Given the description of an element on the screen output the (x, y) to click on. 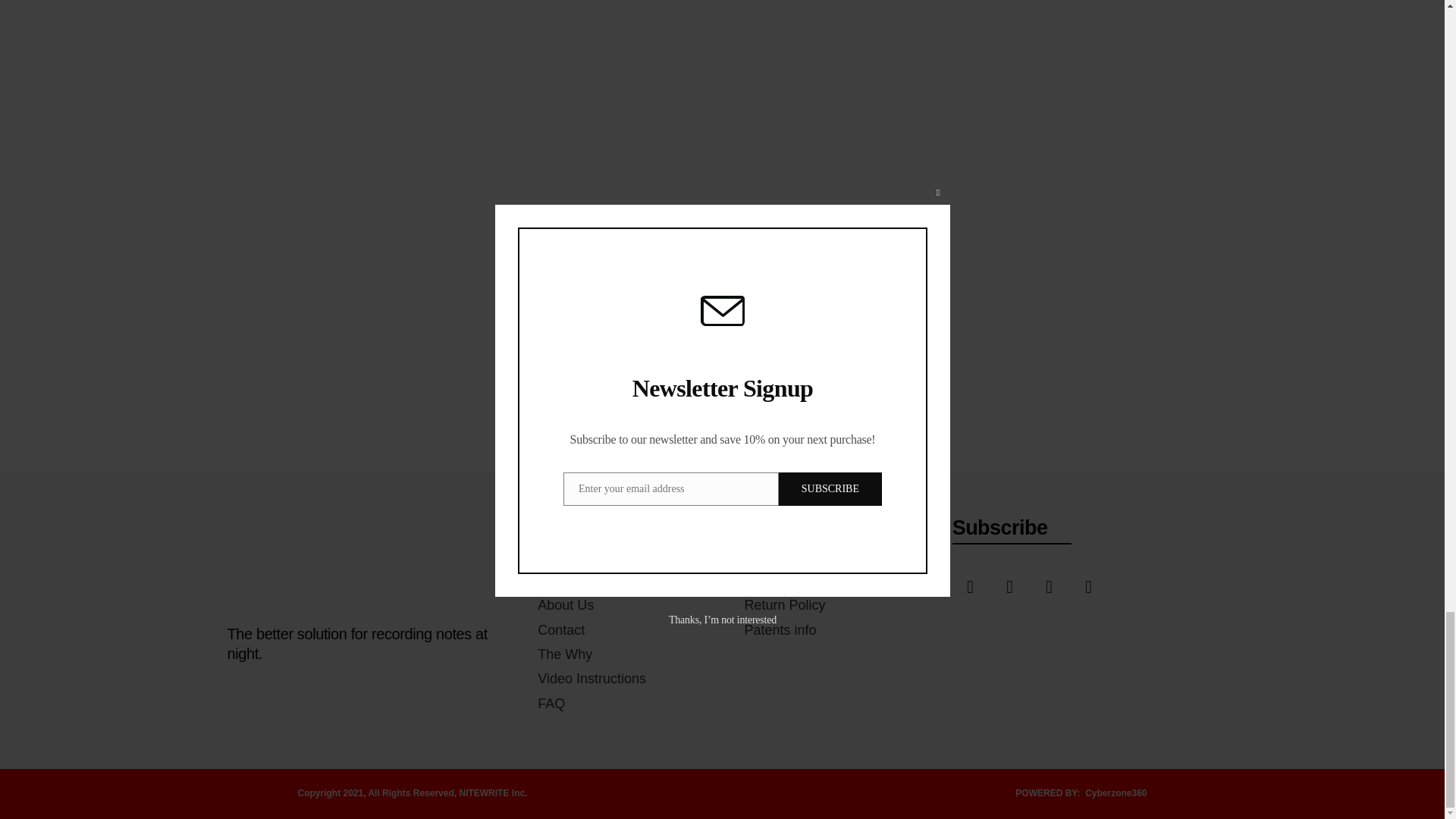
The Why (561, 654)
Video Instructions (588, 678)
FAQ (547, 703)
Patents info (776, 630)
Home (552, 580)
Return Policy (781, 604)
Contact (558, 630)
About Us (562, 604)
Shipping Policy (787, 580)
